Given the description of an element on the screen output the (x, y) to click on. 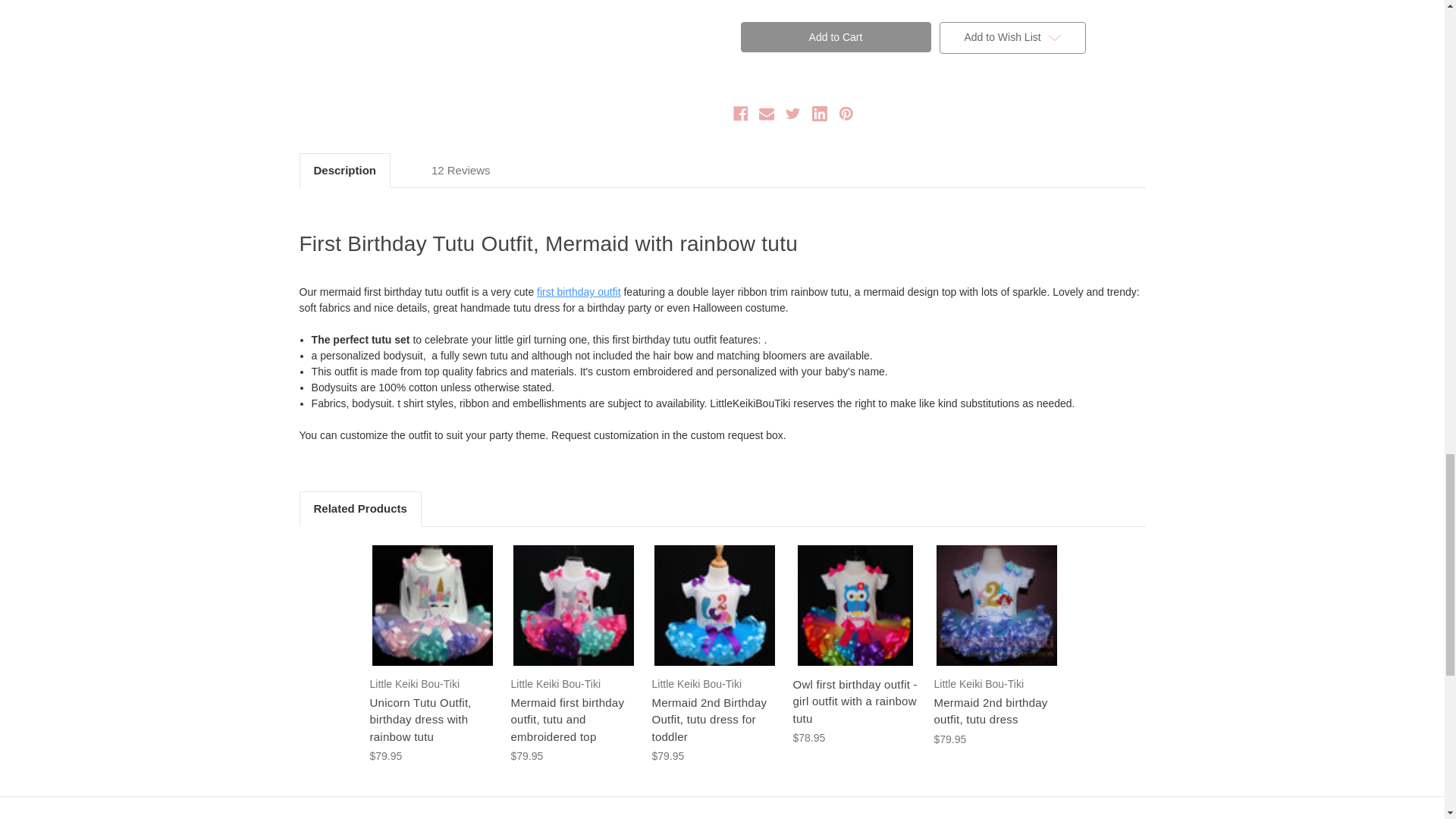
Add to Cart (834, 37)
